Given the description of an element on the screen output the (x, y) to click on. 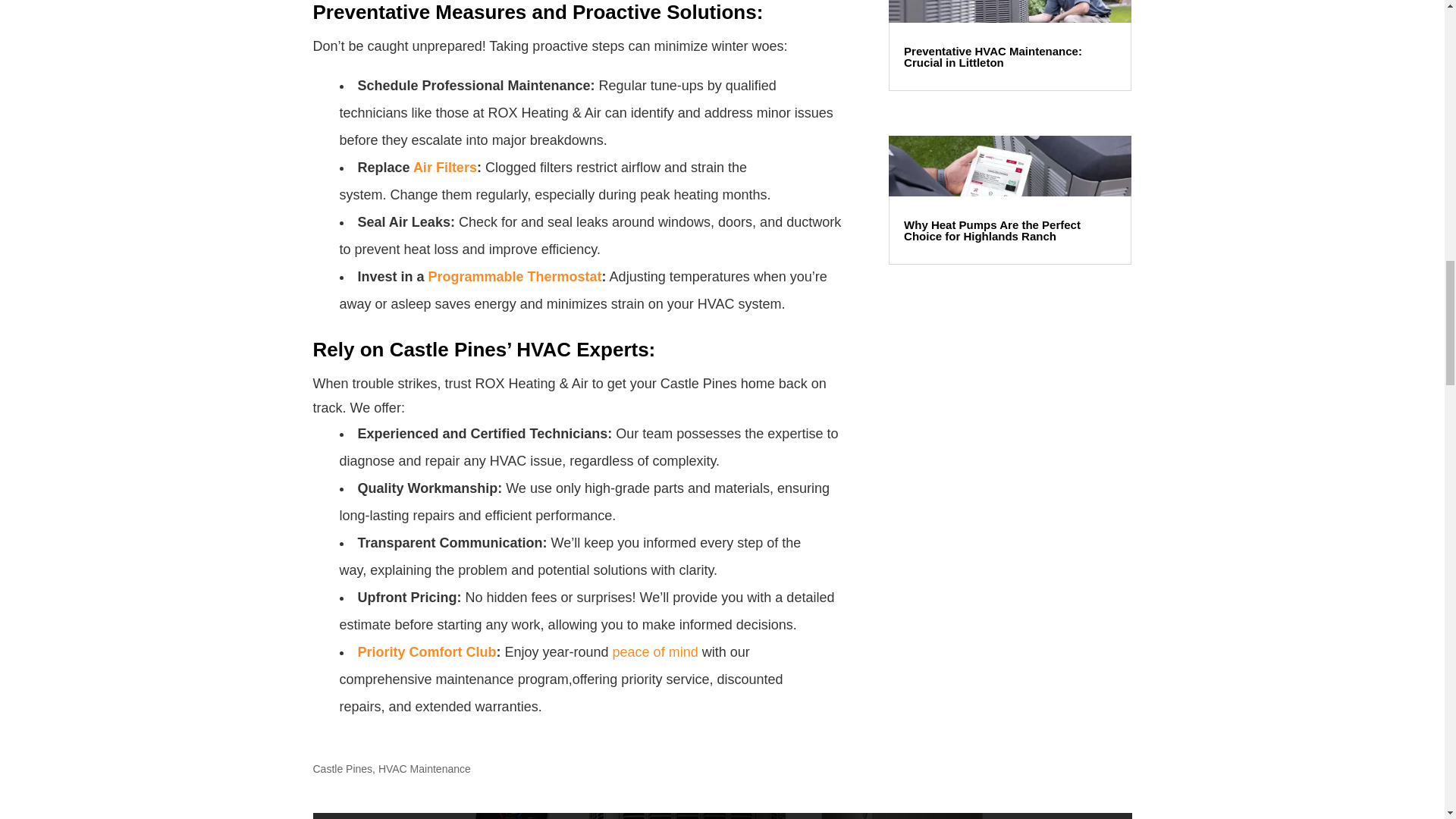
HVAC Maintenance (424, 768)
Programmable Thermostat (515, 276)
Castle Pines (342, 768)
peace of mind (655, 652)
Preventative HVAC Maintenance: Crucial in Littleton (992, 56)
Air Filters (445, 167)
Priority Comfort Club (427, 652)
